Given the description of an element on the screen output the (x, y) to click on. 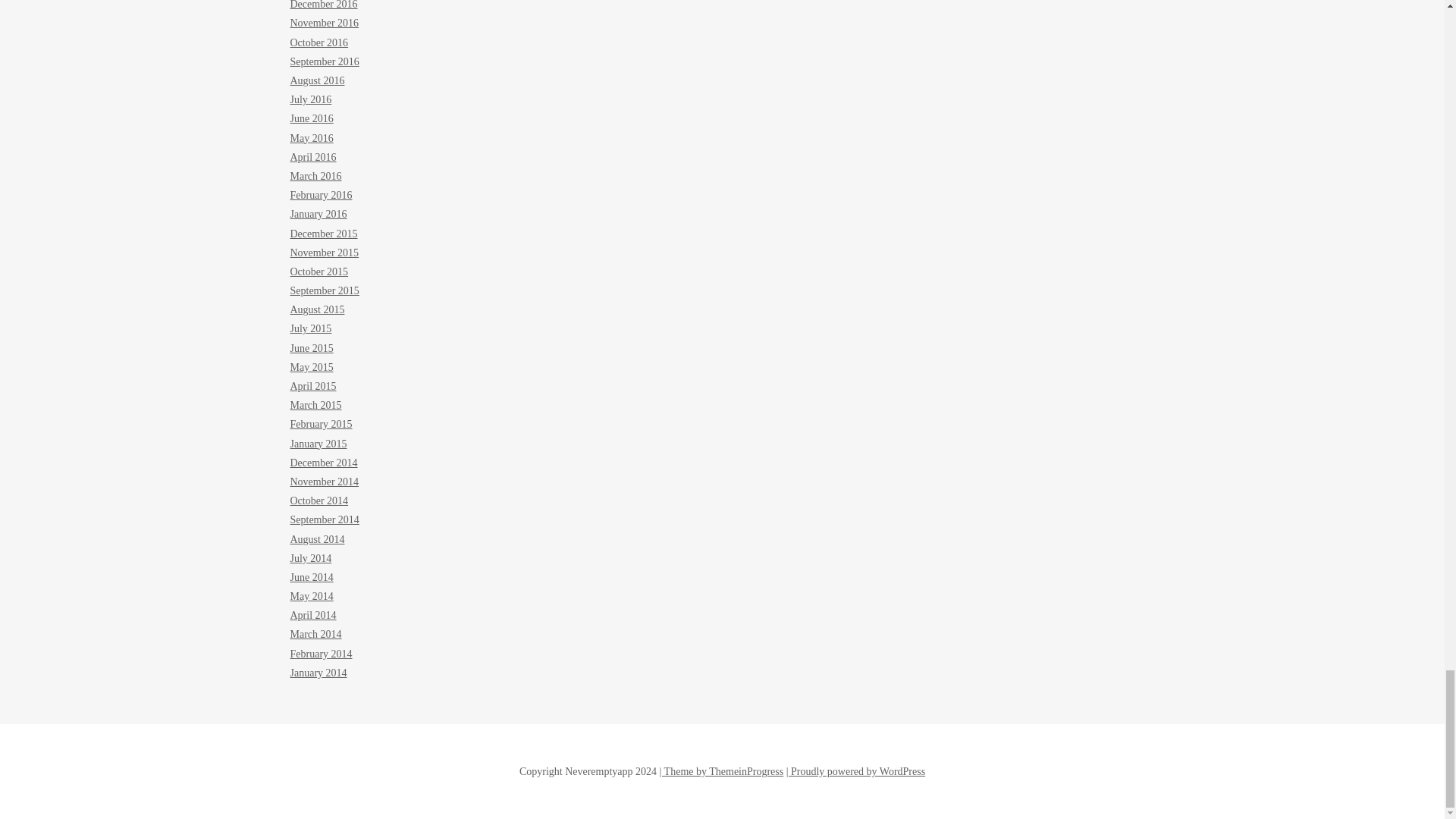
A Semantic Personal Publishing Platform (855, 771)
